Given the description of an element on the screen output the (x, y) to click on. 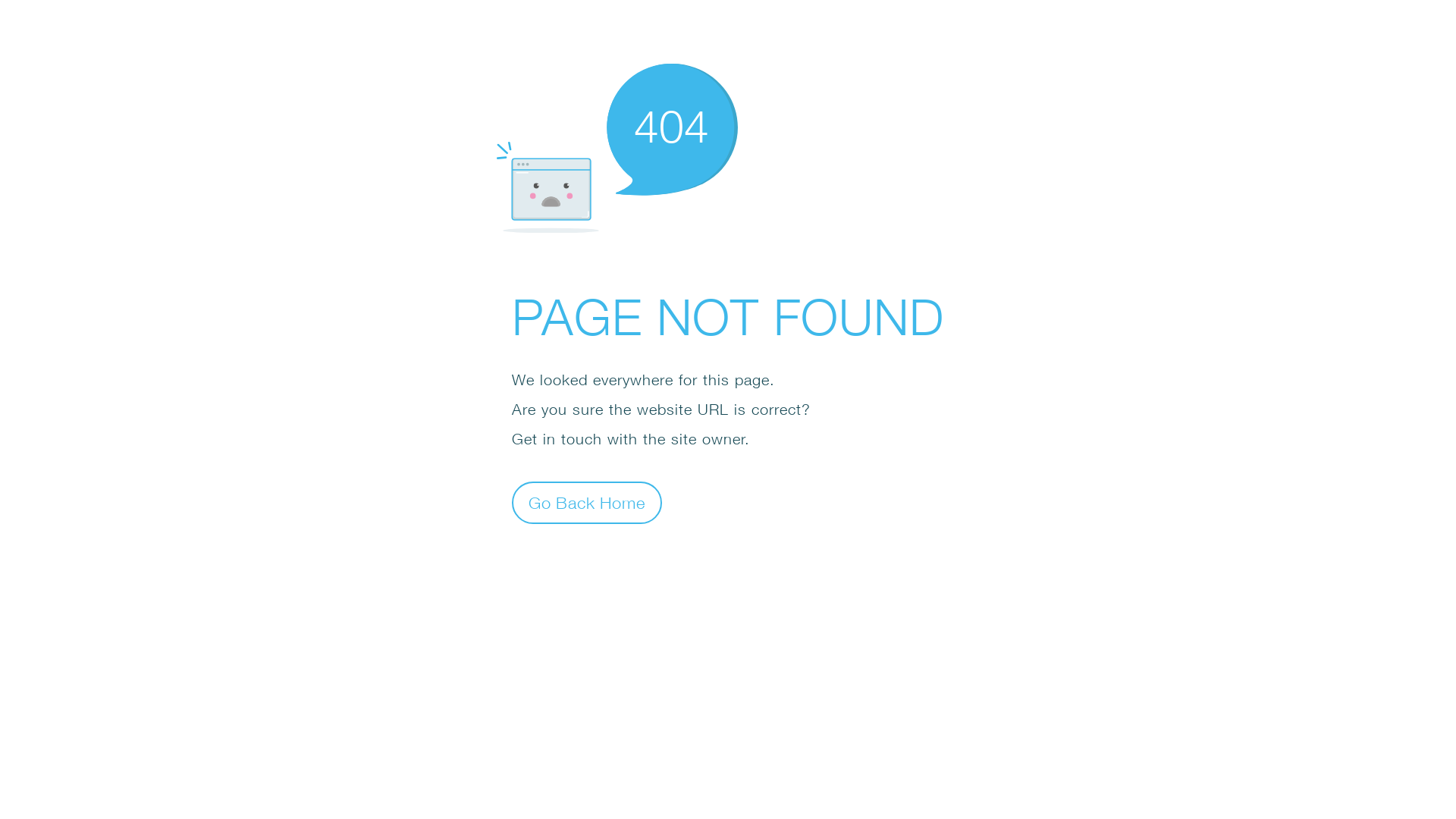
Go Back Home Element type: text (586, 502)
